Given the description of an element on the screen output the (x, y) to click on. 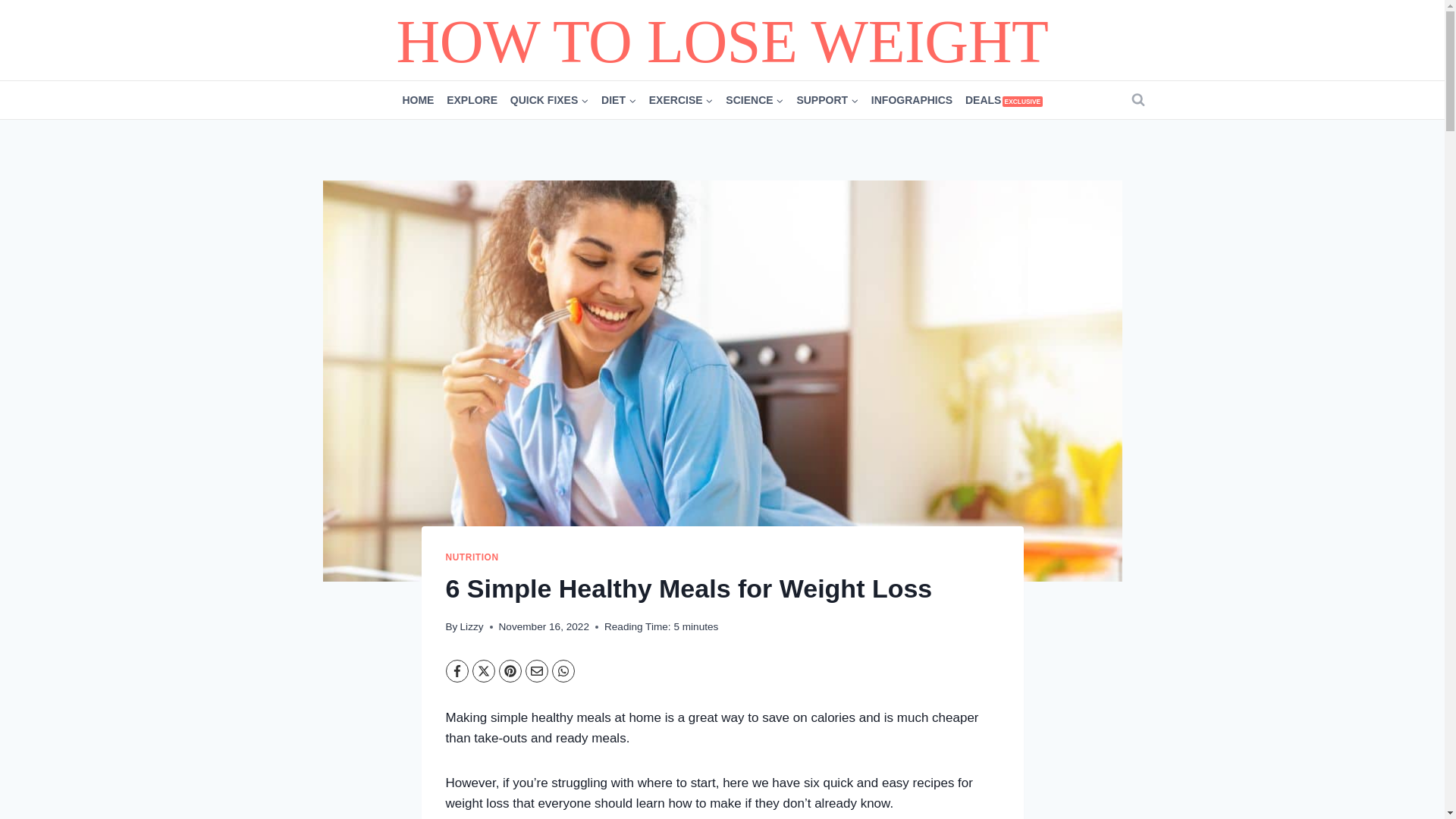
EXPLORE (472, 99)
NUTRITION (472, 557)
QUICK FIXES (548, 99)
HOW TO LOSE WEIGHT (722, 40)
SUPPORT (827, 99)
DIET (619, 99)
EXERCISE (680, 99)
Lizzy (471, 626)
HOME (418, 99)
DEALSEXCLUSIVE (1003, 99)
